Given the description of an element on the screen output the (x, y) to click on. 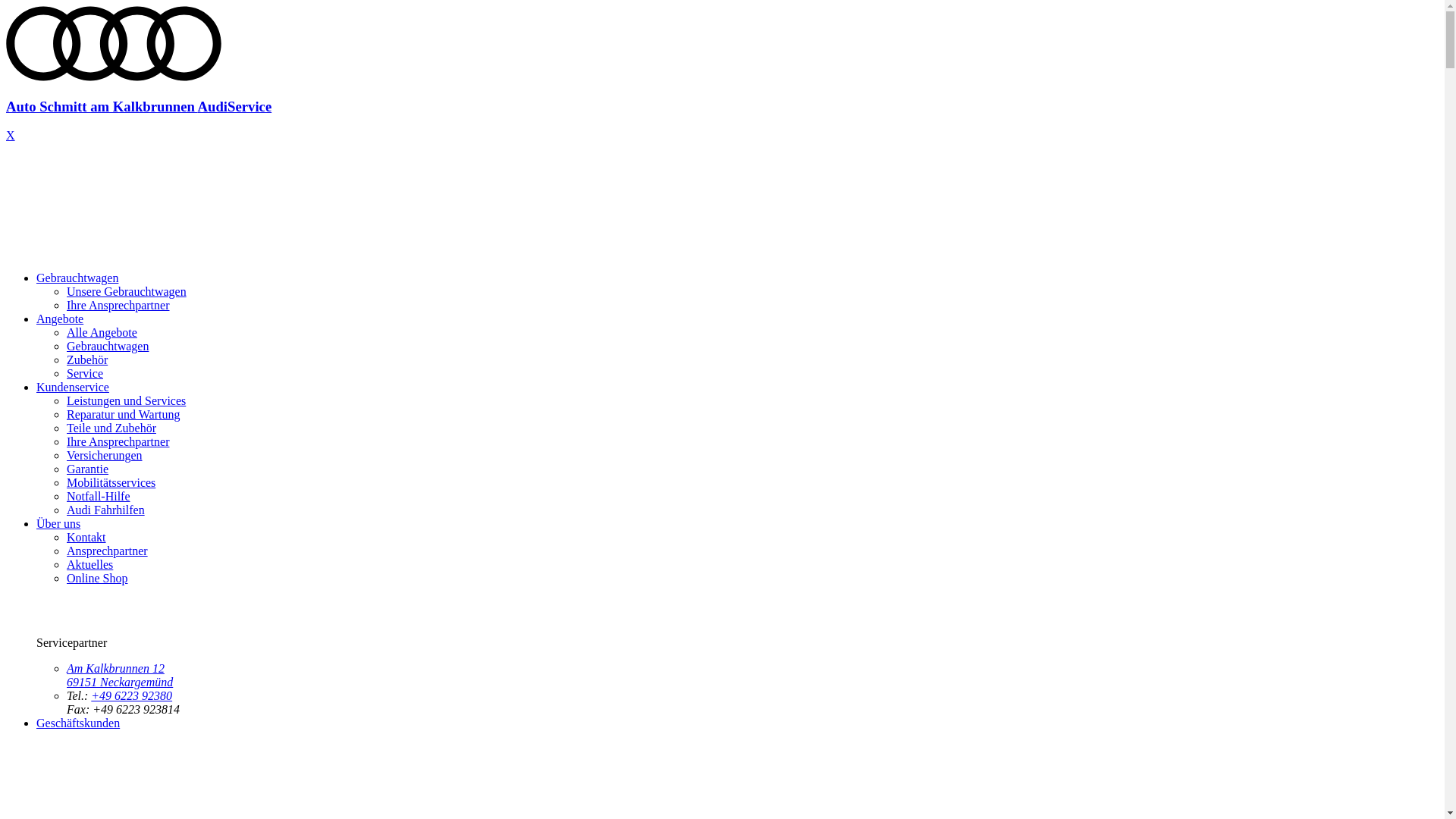
Ihre Ansprechpartner Element type: text (117, 441)
Gebrauchtwagen Element type: text (107, 345)
Aktuelles Element type: text (89, 564)
X Element type: text (10, 134)
Garantie Element type: text (87, 468)
Service Element type: text (84, 373)
Ihre Ansprechpartner Element type: text (117, 304)
Unsere Gebrauchtwagen Element type: text (126, 291)
Alle Angebote Element type: text (101, 332)
Versicherungen Element type: text (104, 454)
Angebote Element type: text (59, 318)
Notfall-Hilfe Element type: text (98, 495)
Leistungen und Services Element type: text (125, 400)
+49 6223 92380 Element type: text (131, 695)
Reparatur und Wartung Element type: text (122, 413)
Kontakt Element type: text (86, 536)
Ansprechpartner Element type: text (106, 550)
Gebrauchtwagen Element type: text (77, 277)
Online Shop Element type: text (96, 577)
Auto Schmitt am Kalkbrunnen AudiService Element type: text (722, 92)
Audi Fahrhilfen Element type: text (105, 509)
Kundenservice Element type: text (72, 386)
